Given the description of an element on the screen output the (x, y) to click on. 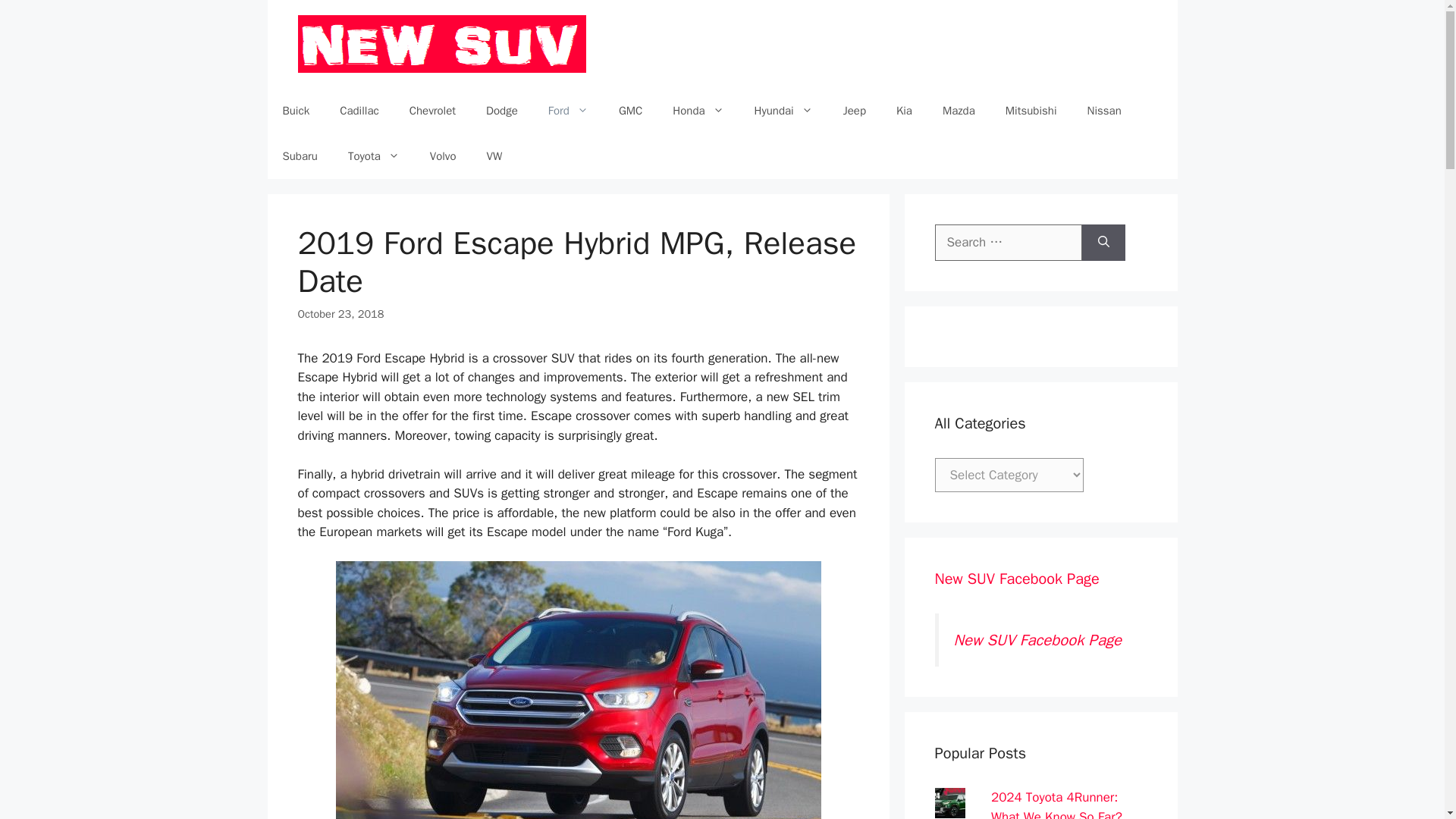
Cadillac (359, 110)
Buick (295, 110)
Dodge (501, 110)
Mazda (958, 110)
Volvo (442, 156)
Ford (568, 110)
Honda (698, 110)
Chevrolet (432, 110)
Toyota (373, 156)
GMC (631, 110)
